Given the description of an element on the screen output the (x, y) to click on. 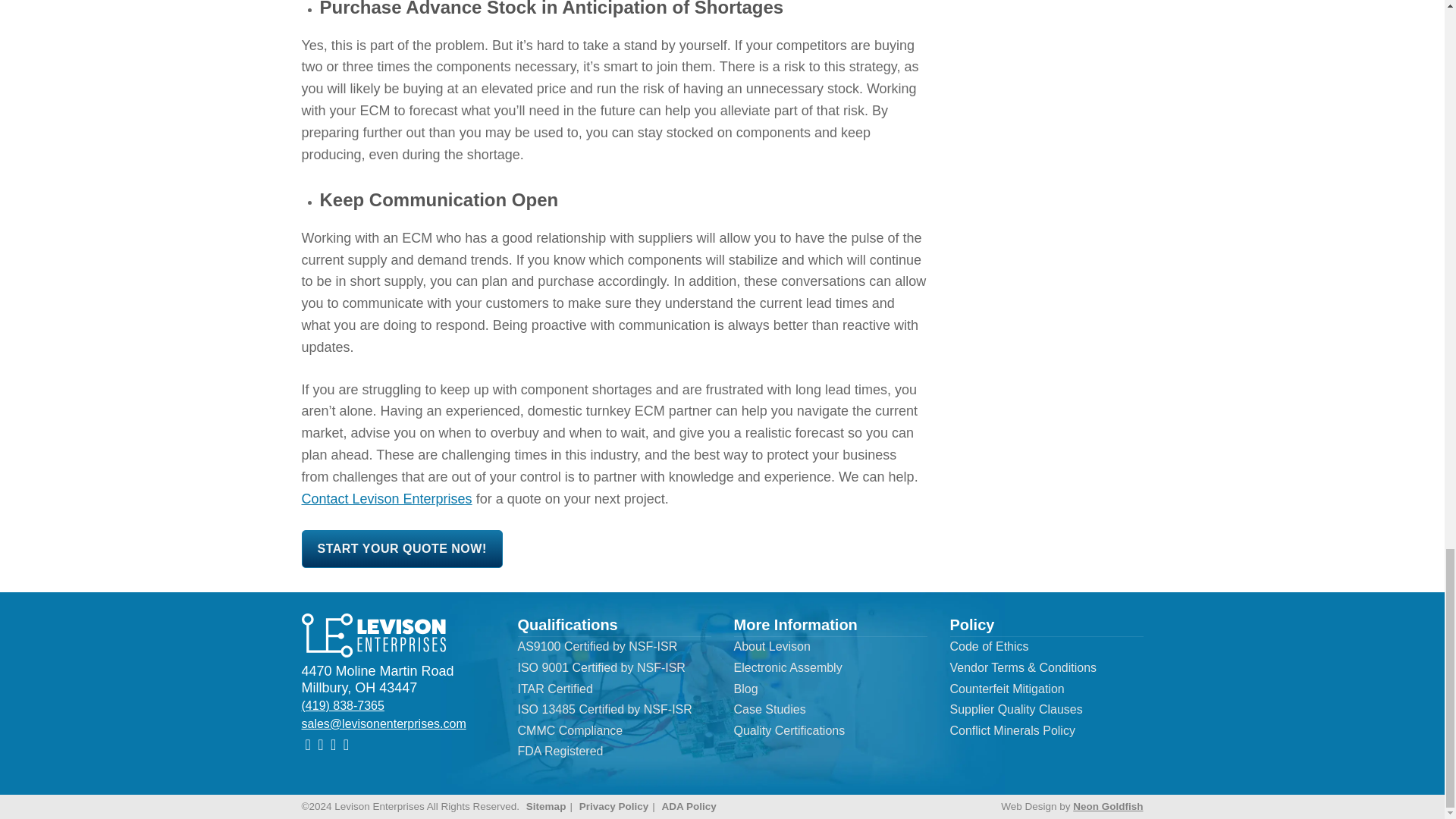
click to call (342, 705)
